Given the description of an element on the screen output the (x, y) to click on. 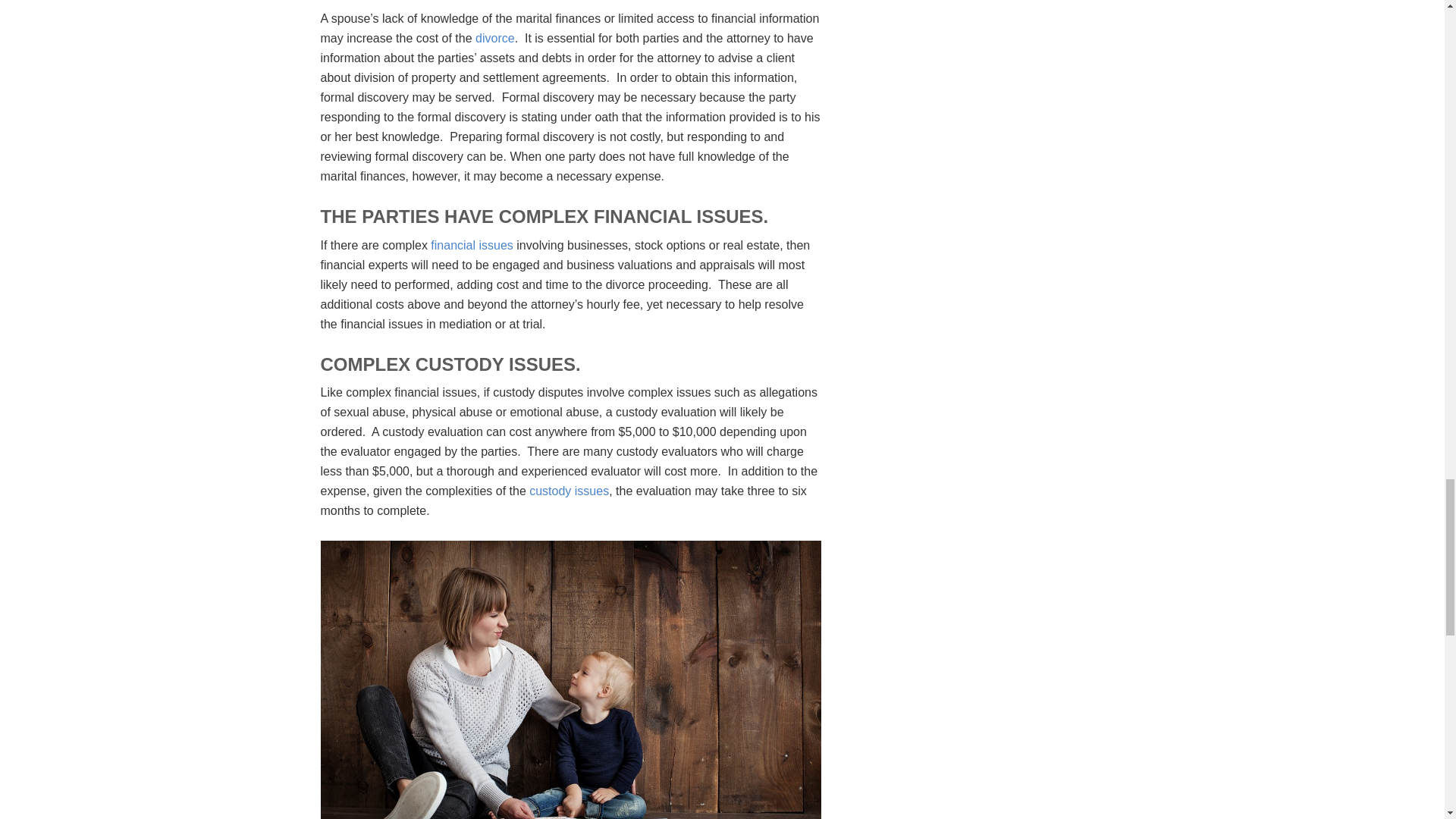
custody issues (568, 490)
financial issues (471, 245)
divorce (495, 38)
